Given the description of an element on the screen output the (x, y) to click on. 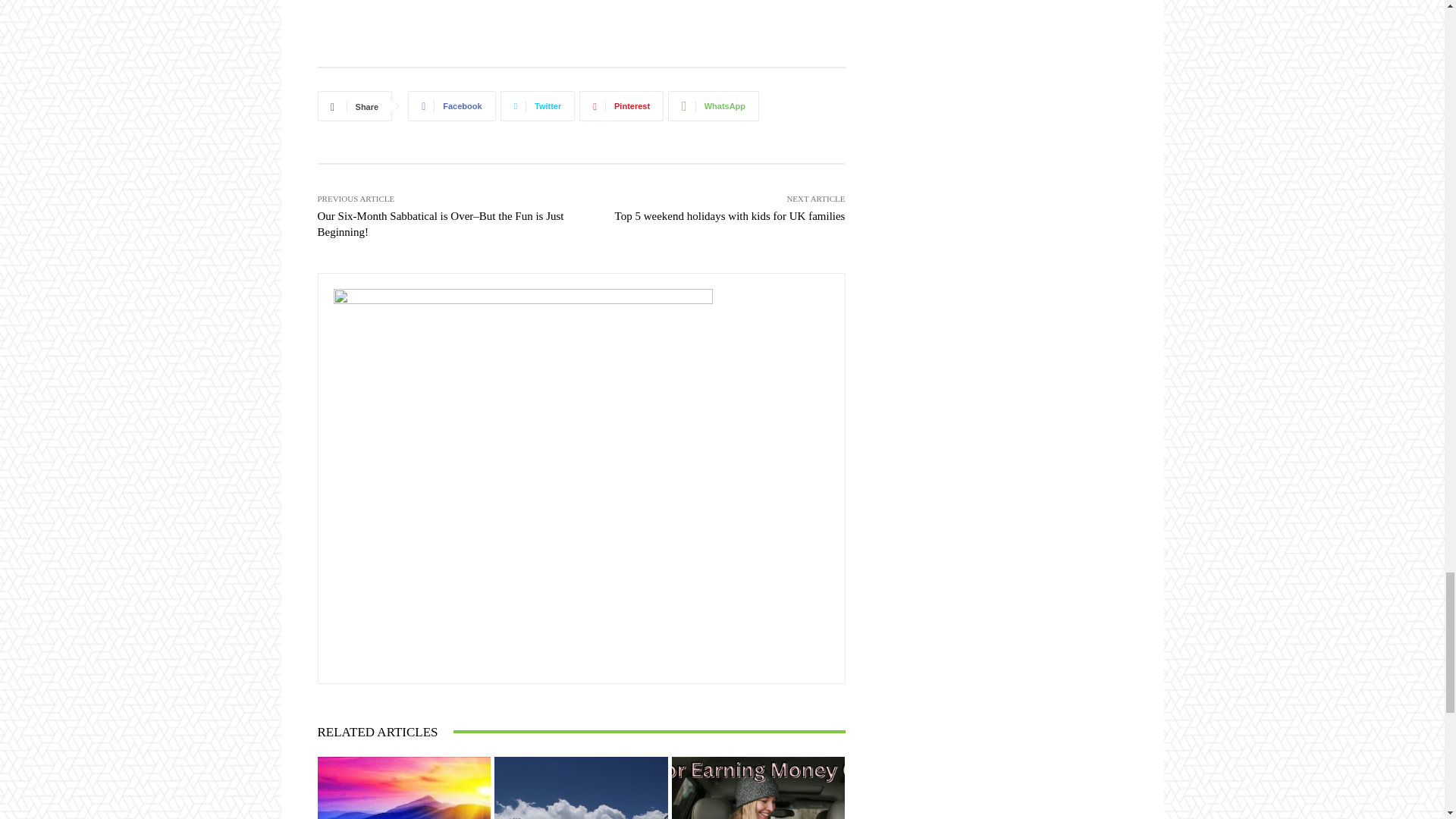
Facebook (451, 105)
Twitter (537, 105)
